Given the description of an element on the screen output the (x, y) to click on. 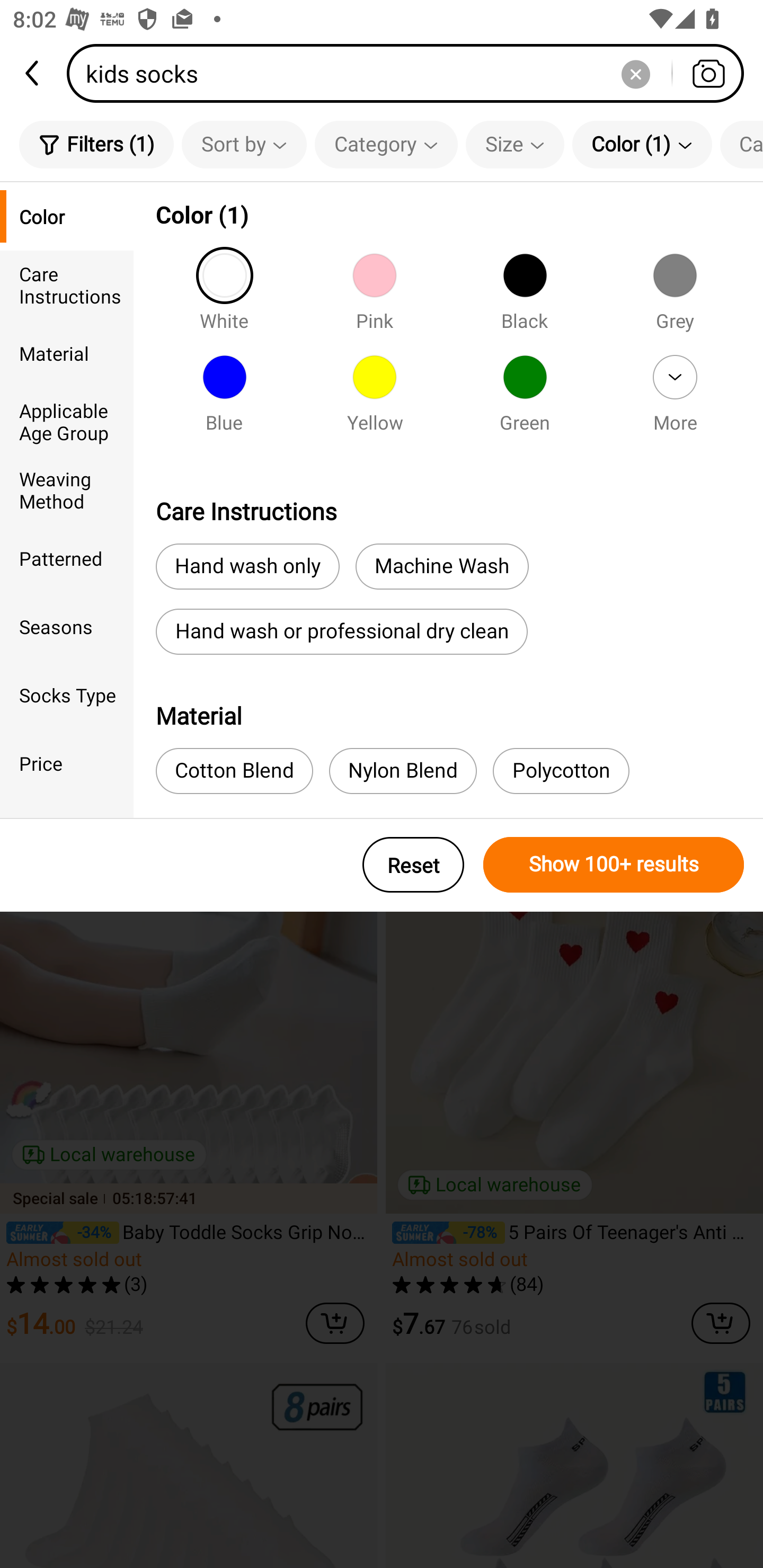
back (33, 72)
kids socks (411, 73)
Delete search history (635, 73)
Search by photo (708, 73)
Filters (1) (96, 143)
Sort by (243, 143)
Category (385, 143)
Size (514, 143)
Color (1) (641, 143)
Color (66, 215)
Pink (374, 297)
Care Instructions (66, 284)
Material (66, 352)
Blue (224, 399)
More (674, 399)
Applicable Age Group (66, 421)
Weaving Method (66, 489)
Patterned (66, 557)
Hand wash only (247, 566)
Machine Wash (441, 566)
